Given the description of an element on the screen output the (x, y) to click on. 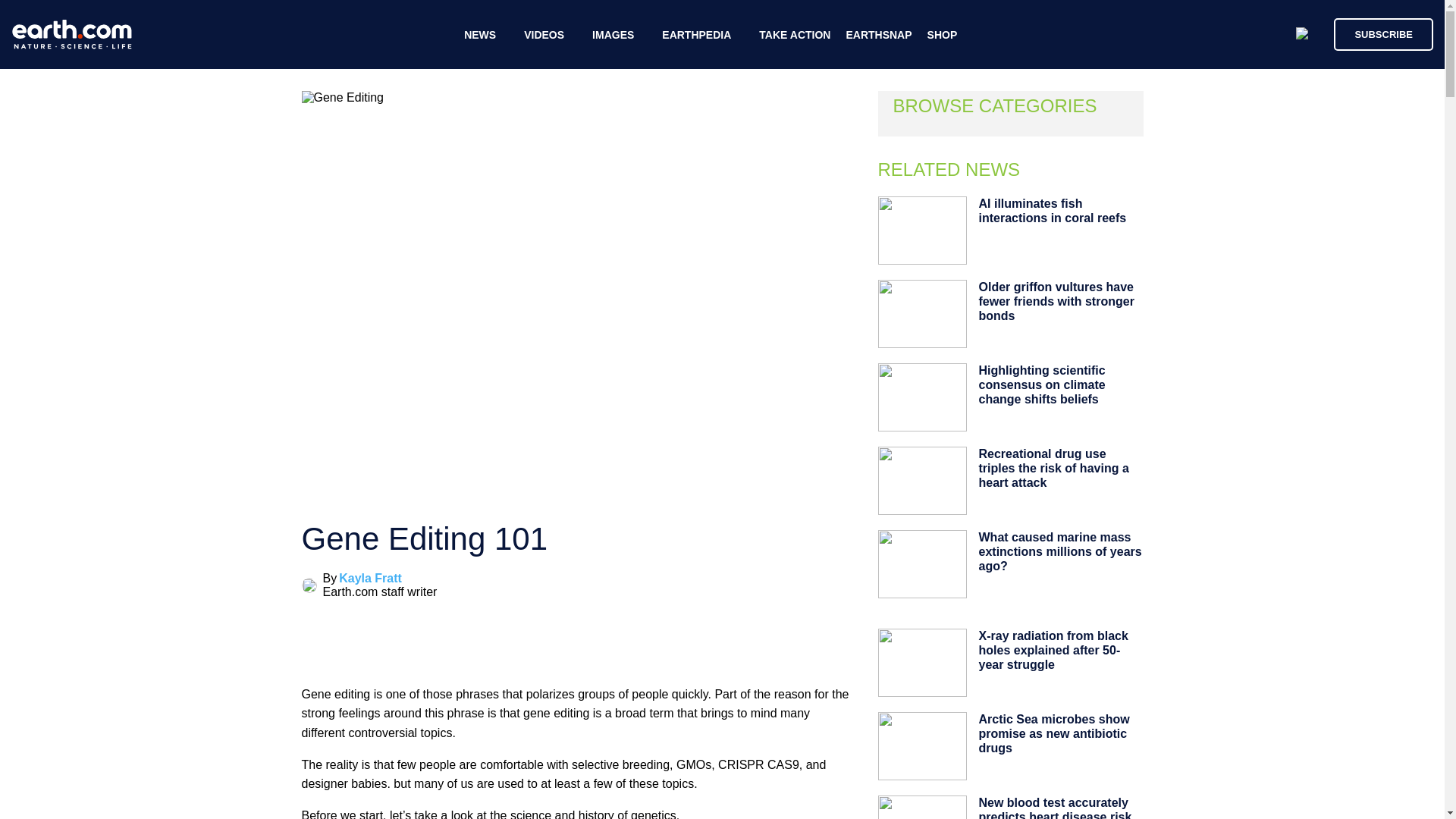
EARTHSNAP (878, 34)
SUBSCRIBE (1382, 34)
AI illuminates fish interactions in coral reefs (1051, 210)
SHOP (942, 34)
Kayla Fratt (370, 577)
TAKE ACTION (793, 34)
